Given the description of an element on the screen output the (x, y) to click on. 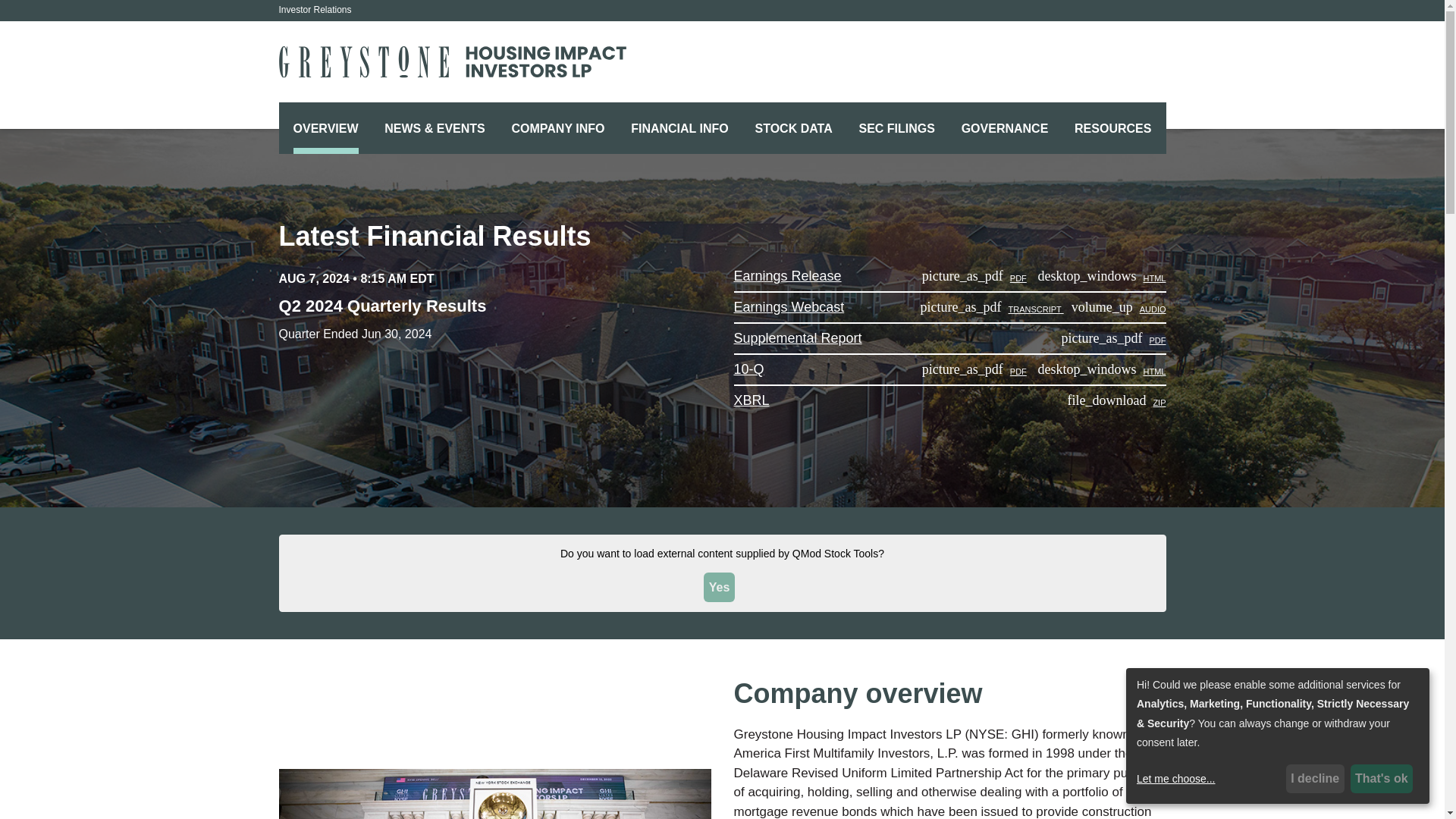
GOVERNANCE (1004, 128)
Opens in a new window (788, 306)
Opens in a new window (992, 308)
10-Q Filing Viewer (748, 368)
Opens in a new window (1118, 308)
FINANCIAL INFO (679, 128)
Download Raw XBRL Files (1116, 402)
10-Q (973, 370)
OVERVIEW (325, 128)
Download Raw XBRL Files (751, 400)
